Given the description of an element on the screen output the (x, y) to click on. 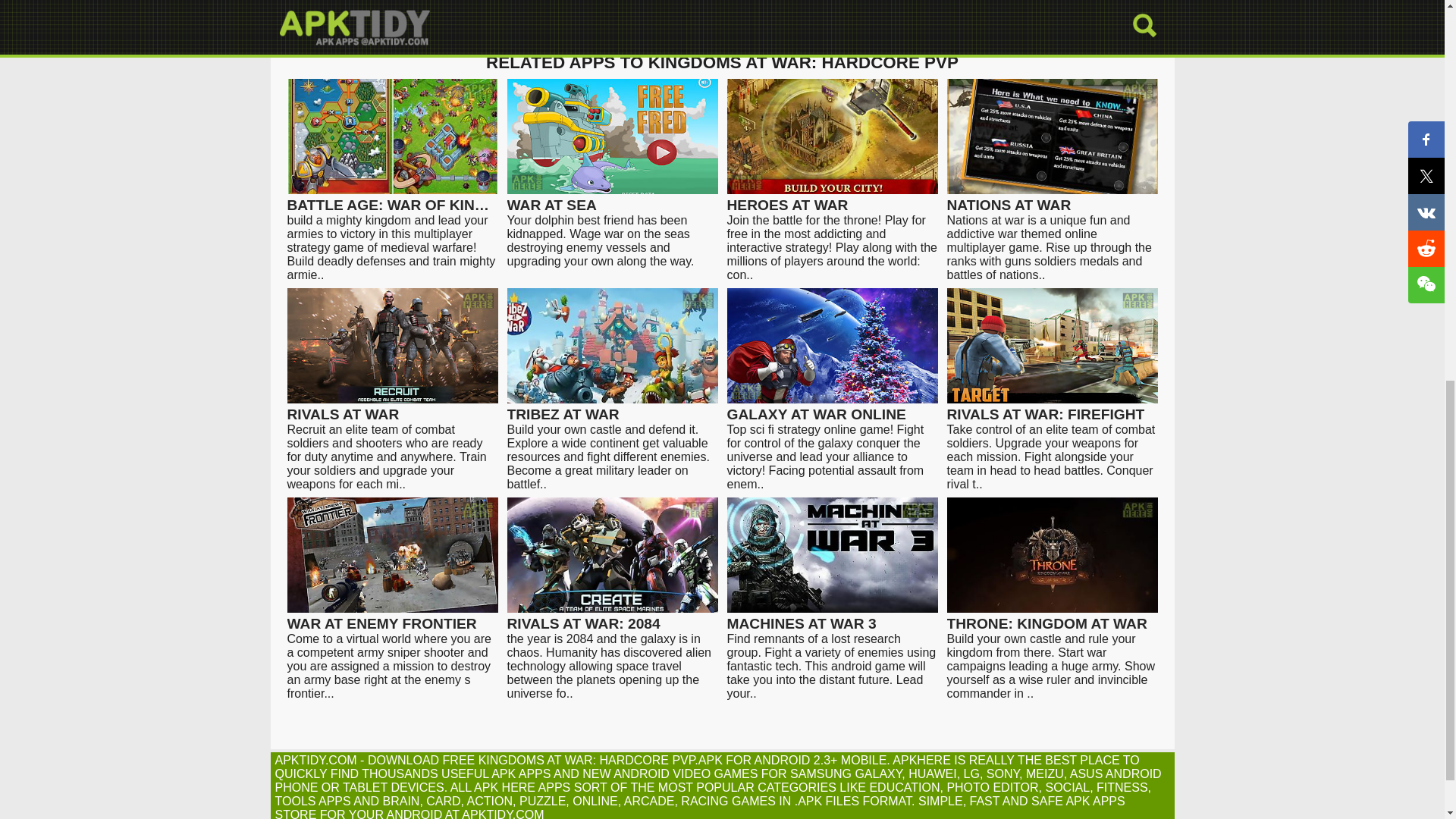
TRIBEZ AT WAR (611, 408)
GALAXY AT WAR ONLINE (831, 408)
WAR AT ENEMY FRONTIER (391, 616)
WAR AT SEA (611, 198)
MACHINES AT WAR 3 (831, 616)
RIVALS AT WAR (391, 408)
NATIONS AT WAR (1051, 198)
BATTLE AGE: WAR OF KINGDOMS (391, 198)
RIVALS AT WAR: 2084 (611, 616)
RIVALS AT WAR: FIREFIGHT (1051, 408)
HEROES AT WAR (831, 198)
THRONE: KINGDOM AT WAR (1051, 616)
